Given the description of an element on the screen output the (x, y) to click on. 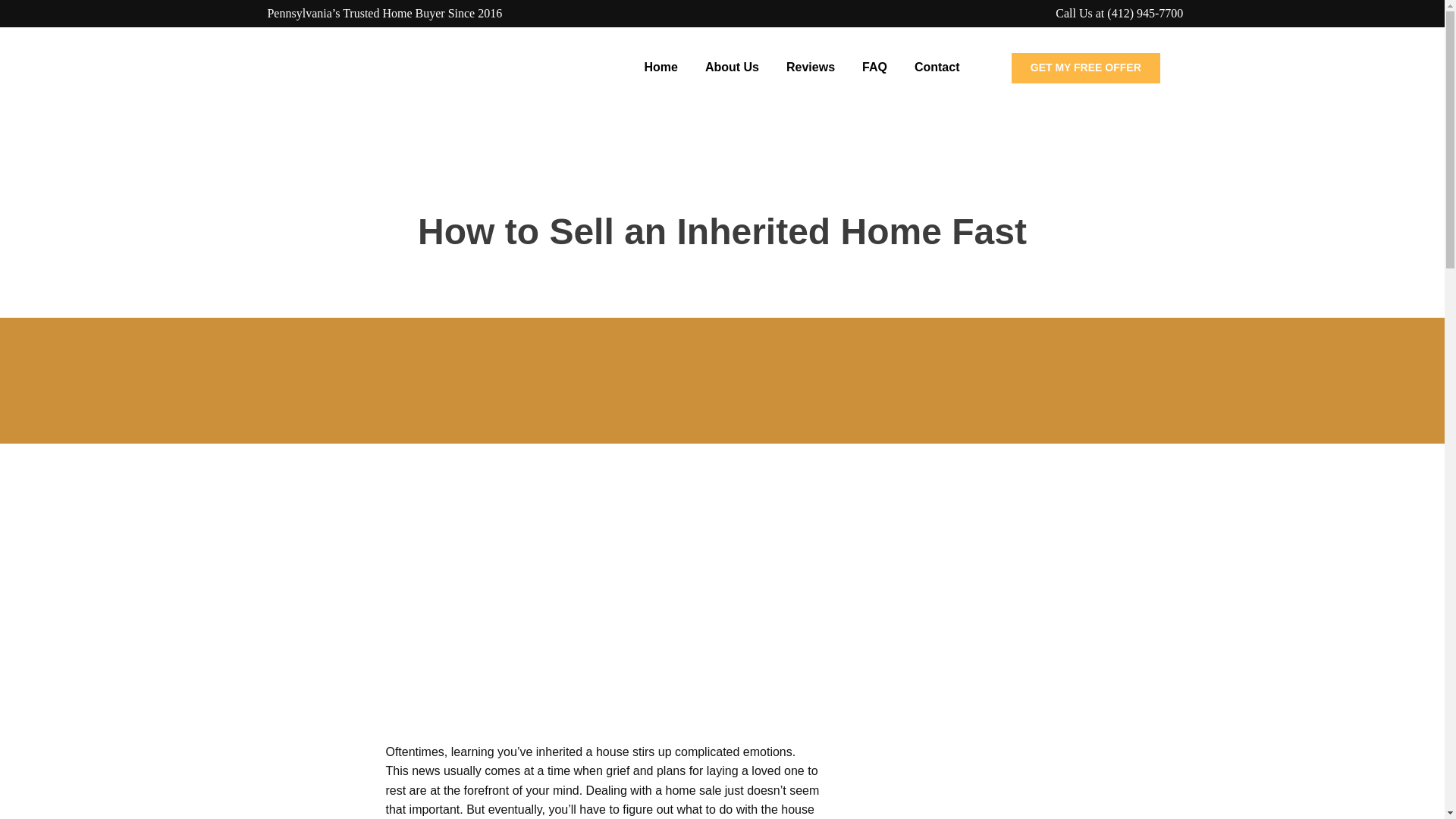
Home (632, 278)
FAQ (874, 67)
Contact (937, 67)
How to Sell an Inherited Home Fast (945, 780)
About Us (732, 67)
Reviews (810, 67)
Home (660, 67)
GET MY FREE OFFER (1085, 67)
